Given the description of an element on the screen output the (x, y) to click on. 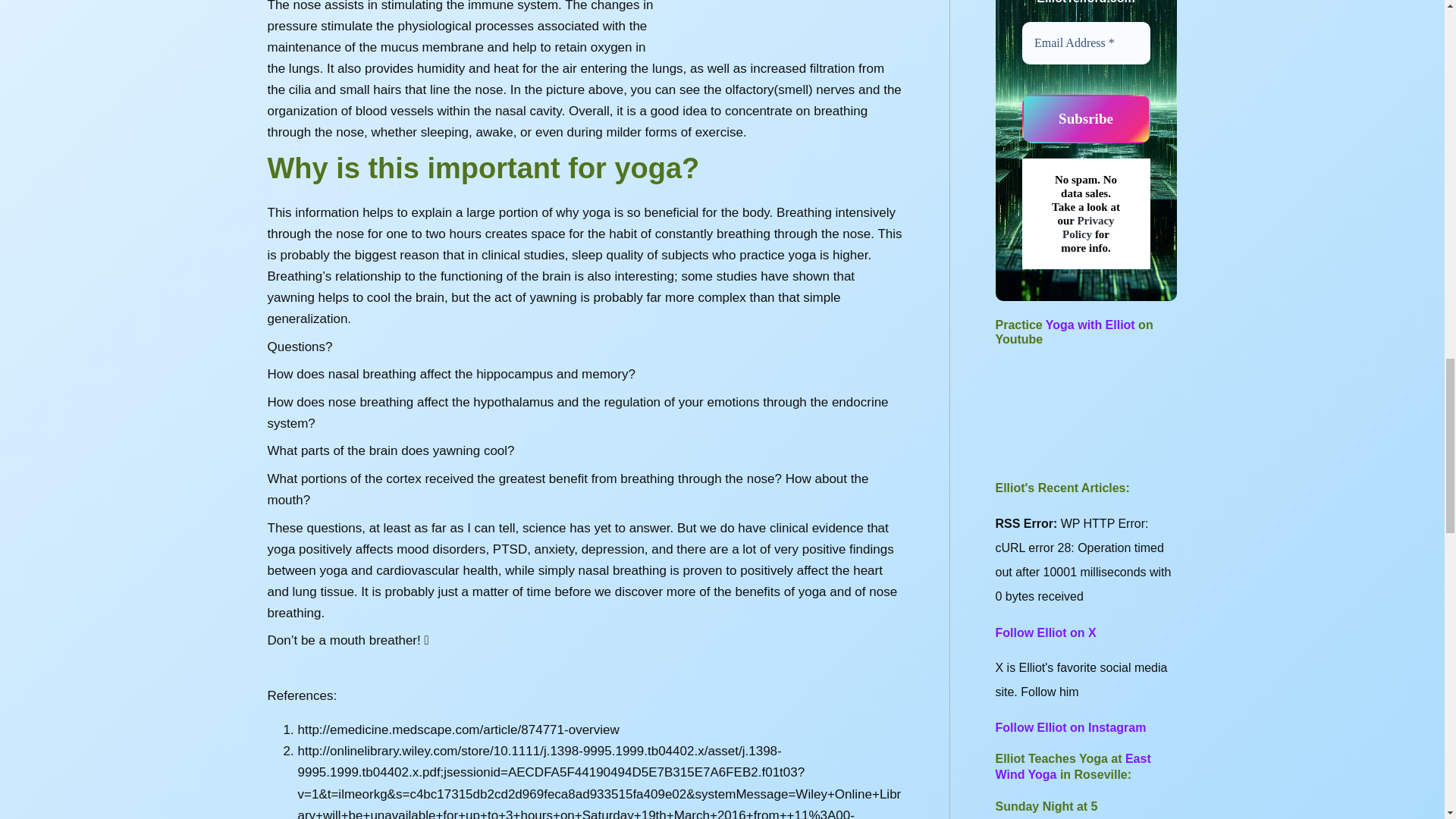
Subsribe (1086, 119)
Email Address (1086, 43)
